Given the description of an element on the screen output the (x, y) to click on. 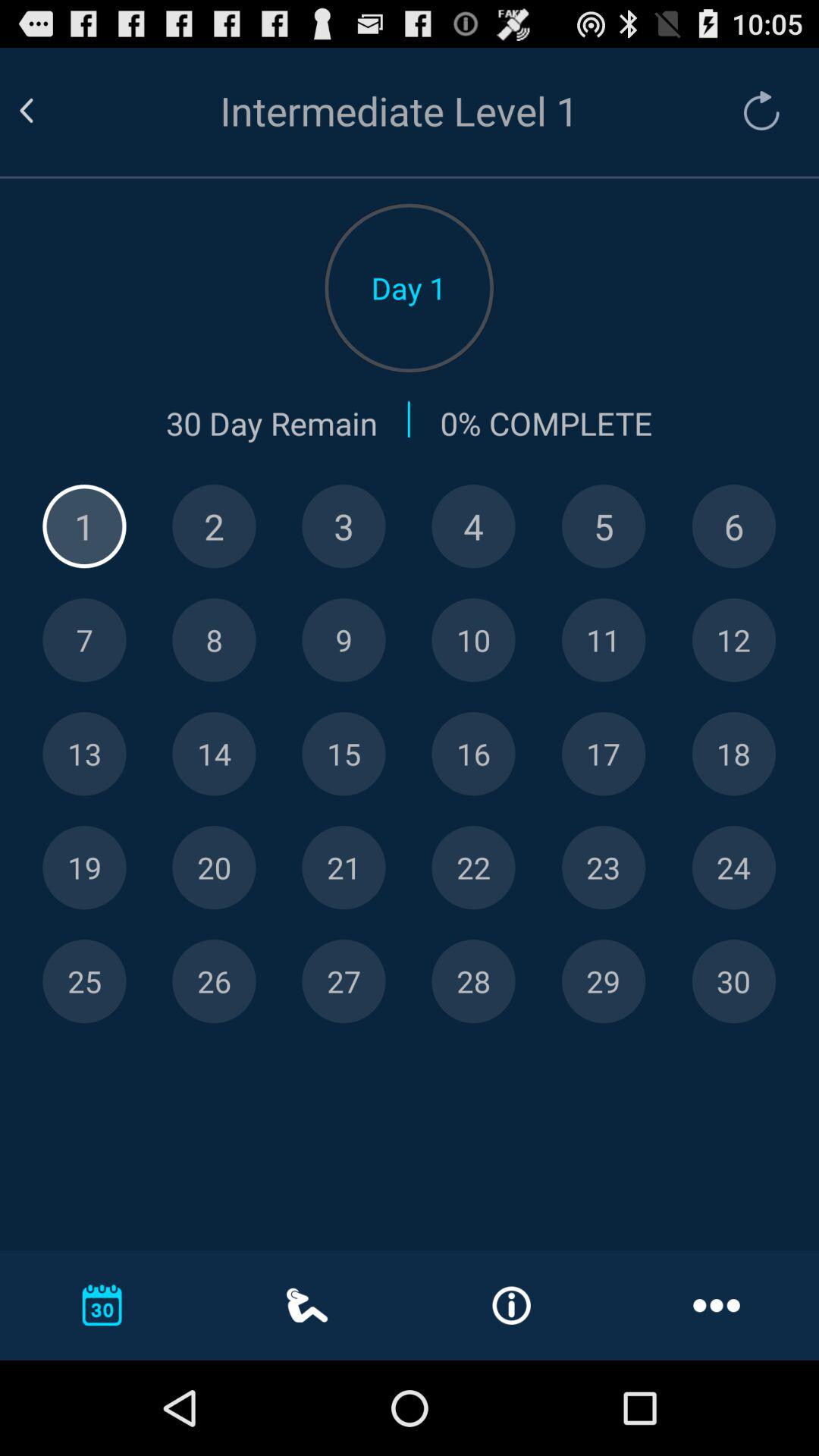
day thirty (733, 981)
